Given the description of an element on the screen output the (x, y) to click on. 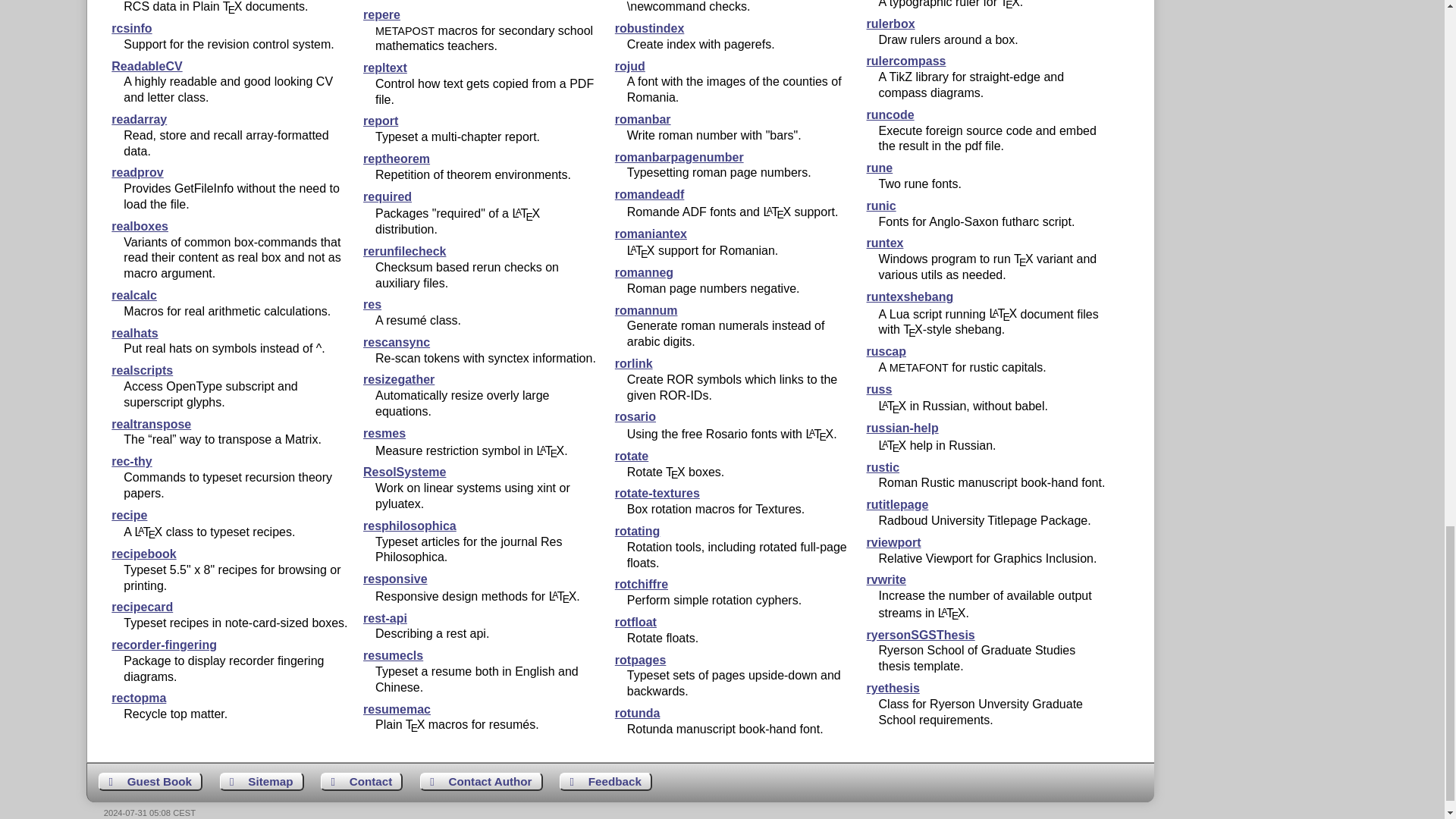
Get help on how to contact an author (481, 782)
Get contact information for the Web site (361, 782)
Send feedback on the current web page to the Web masters (605, 782)
Leave some words for other visitors (150, 782)
Show the structure of this site (261, 782)
